Given the description of an element on the screen output the (x, y) to click on. 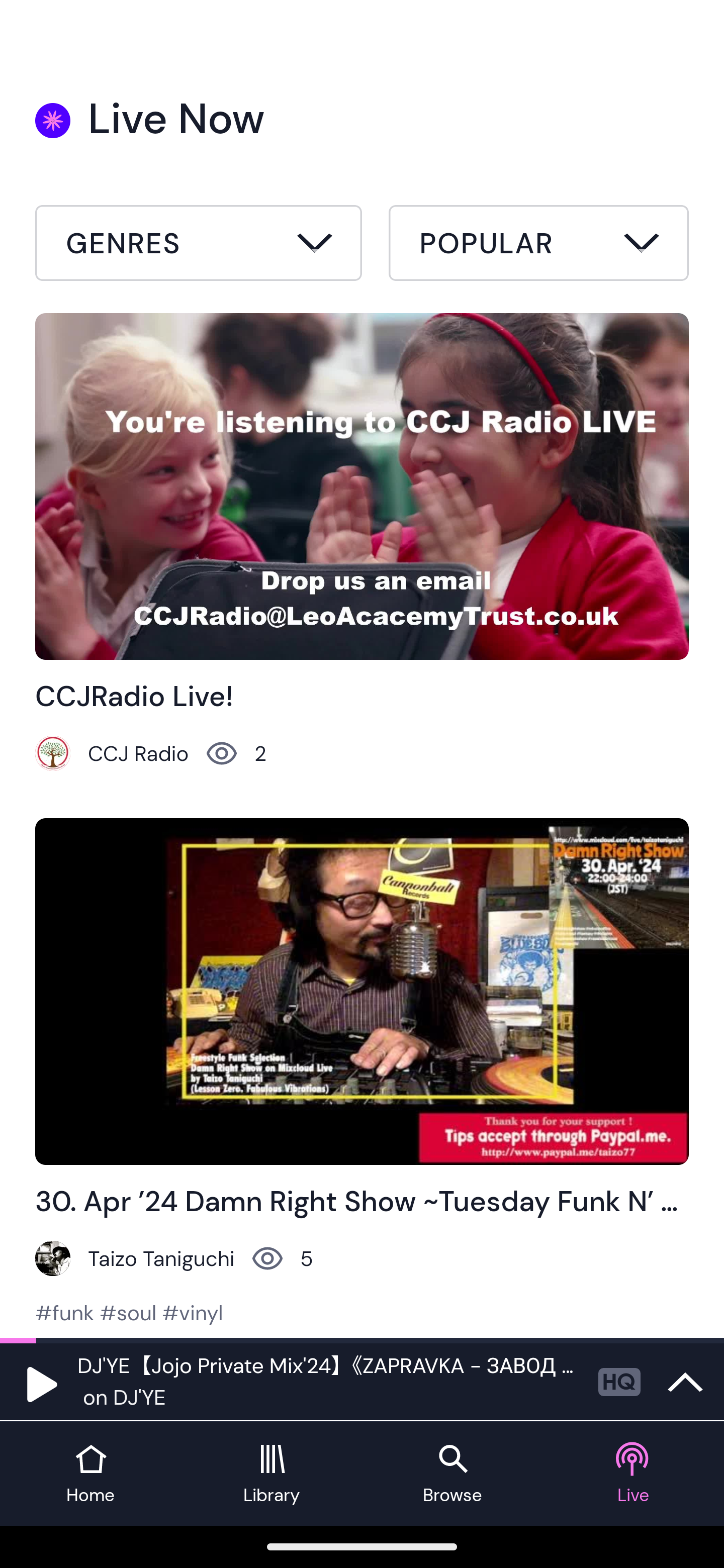
Filter by button All (198, 245)
Sort by button Popular (538, 245)
Home tab Home (90, 1473)
Library tab Library (271, 1473)
Browse tab Browse (452, 1473)
Live tab Live (633, 1473)
